Given the description of an element on the screen output the (x, y) to click on. 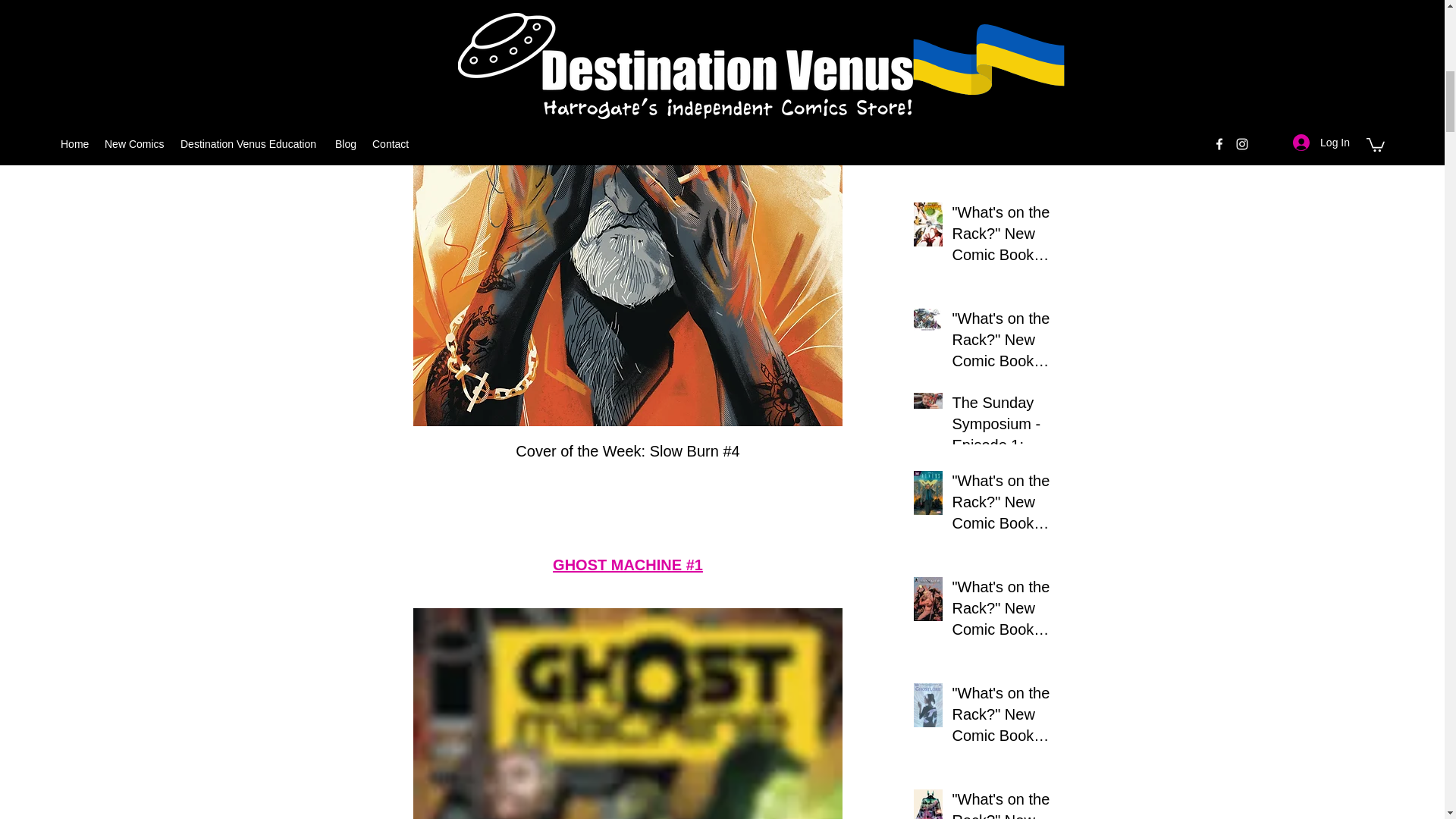
"What's on the Rack?" New Comic Book Day 12th June 2024 (1006, 236)
"What's on the Rack?" New Comic Book Day 1st May (1006, 717)
The Sunday Symposium - Episode 1: Industrial Identity (1006, 426)
"What's on the Rack?" New Comic Book Day 19th June (1006, 130)
"What's on the Rack?" New Comic Book Day 5th June 2024 (1006, 342)
"What's on the Rack?" New Comic Book Day 15th May 2024 (1006, 504)
"What's on the Rack?" New Comic Book Day 7th May 2024 (1006, 611)
"What's on the Rack?" New Comic Book Day26th June (1006, 29)
